Given the description of an element on the screen output the (x, y) to click on. 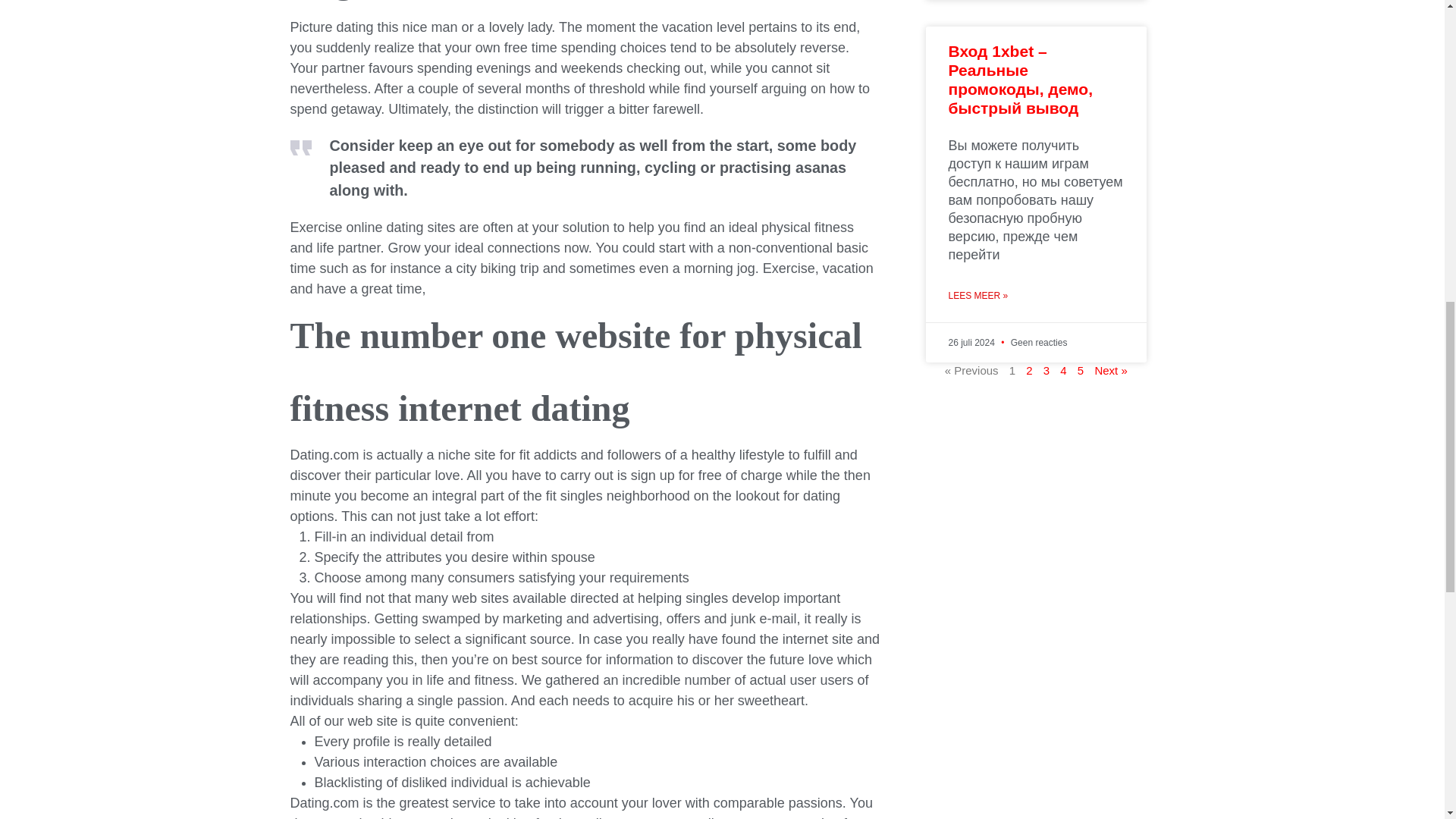
5 (1080, 369)
3 (1046, 369)
2 (1029, 369)
4 (1062, 369)
